Given the description of an element on the screen output the (x, y) to click on. 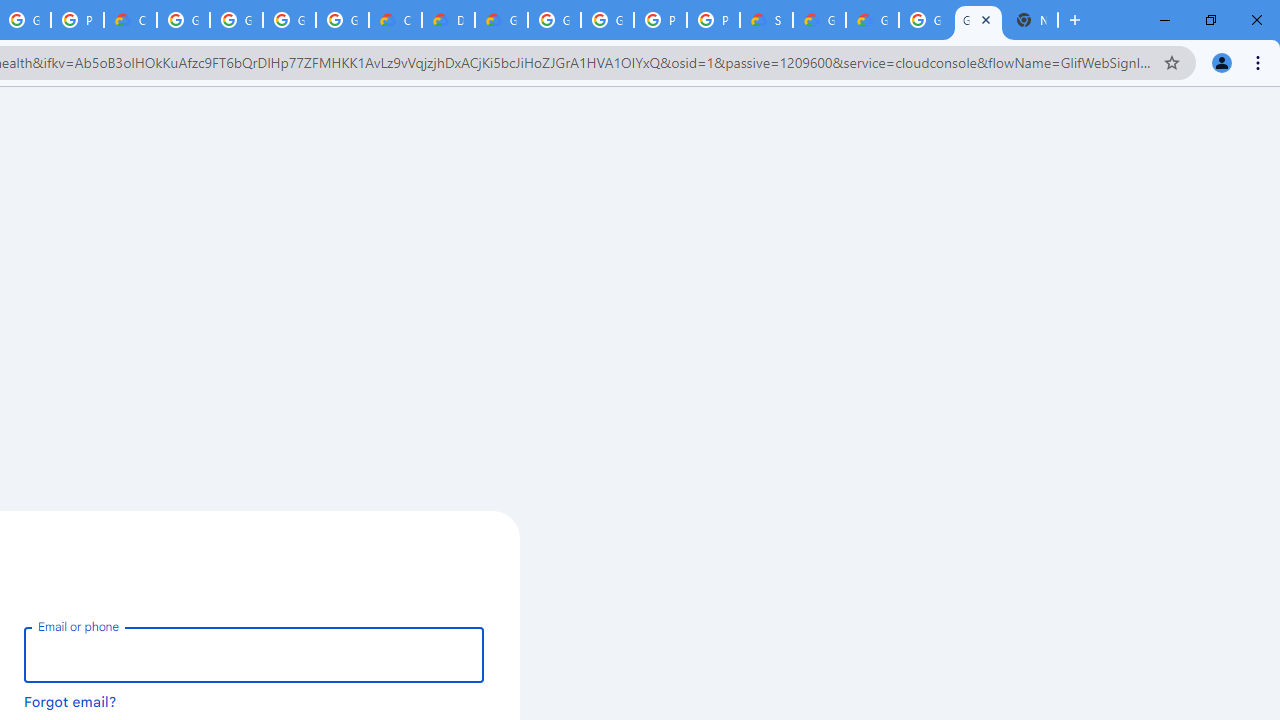
Forgot email? (70, 701)
Google Workspace - Specific Terms (342, 20)
Gemini for Business and Developers | Google Cloud (501, 20)
Email or phone (253, 654)
Support Hub | Google Cloud (766, 20)
Customer Care | Google Cloud (395, 20)
Google Cloud Platform (925, 20)
Google Cloud Platform (554, 20)
Google Cloud Service Health (872, 20)
